Given the description of an element on the screen output the (x, y) to click on. 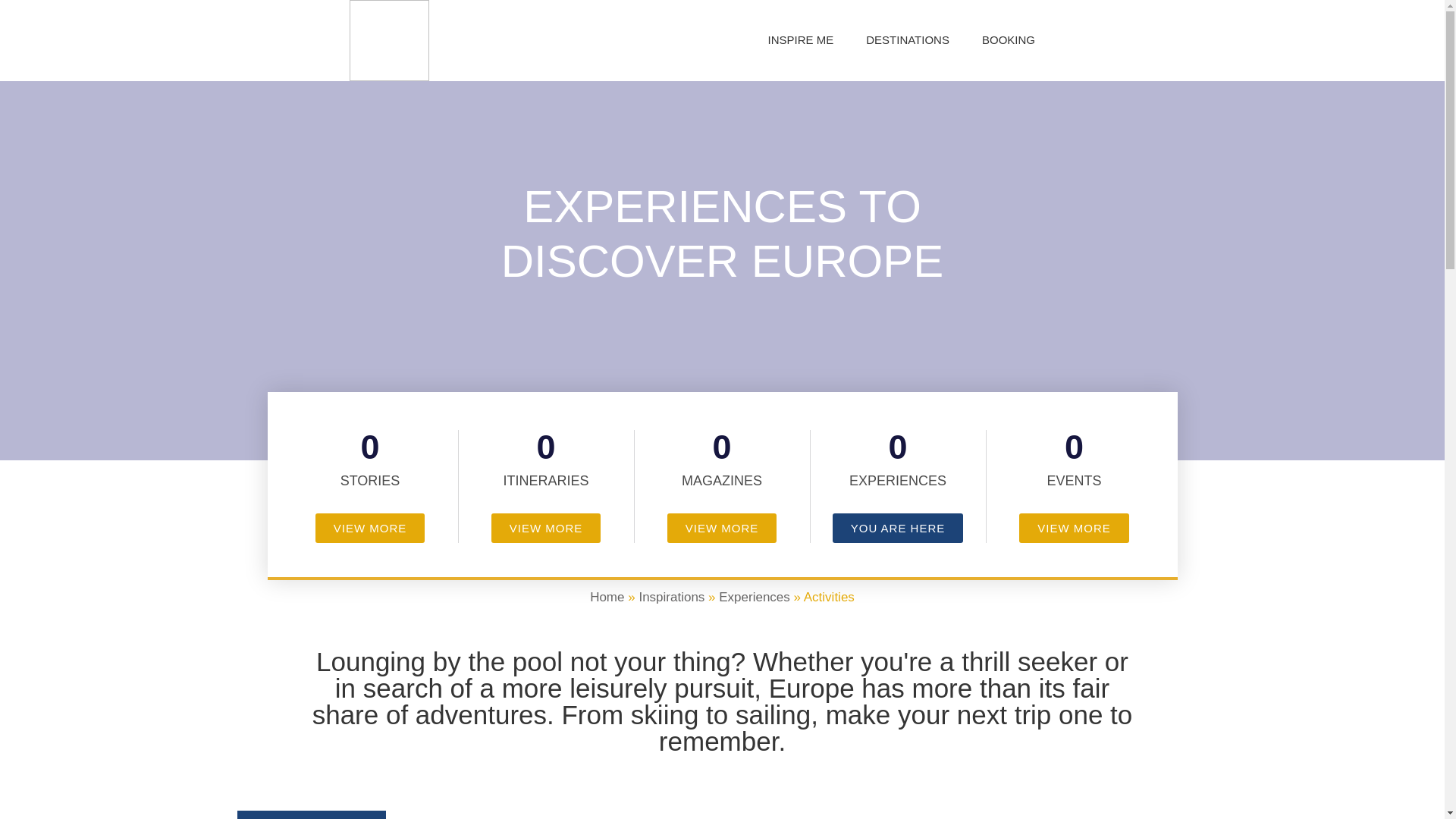
VIEW MORE (721, 527)
Experiences (754, 596)
YOU ARE HERE (897, 527)
ATTRACTIONS (310, 814)
VIEW MORE (546, 527)
INSPIRE ME (800, 39)
VIEW MORE (370, 527)
BOOKING (1007, 39)
VIEW MORE (1074, 527)
Inspirations (671, 596)
